Given the description of an element on the screen output the (x, y) to click on. 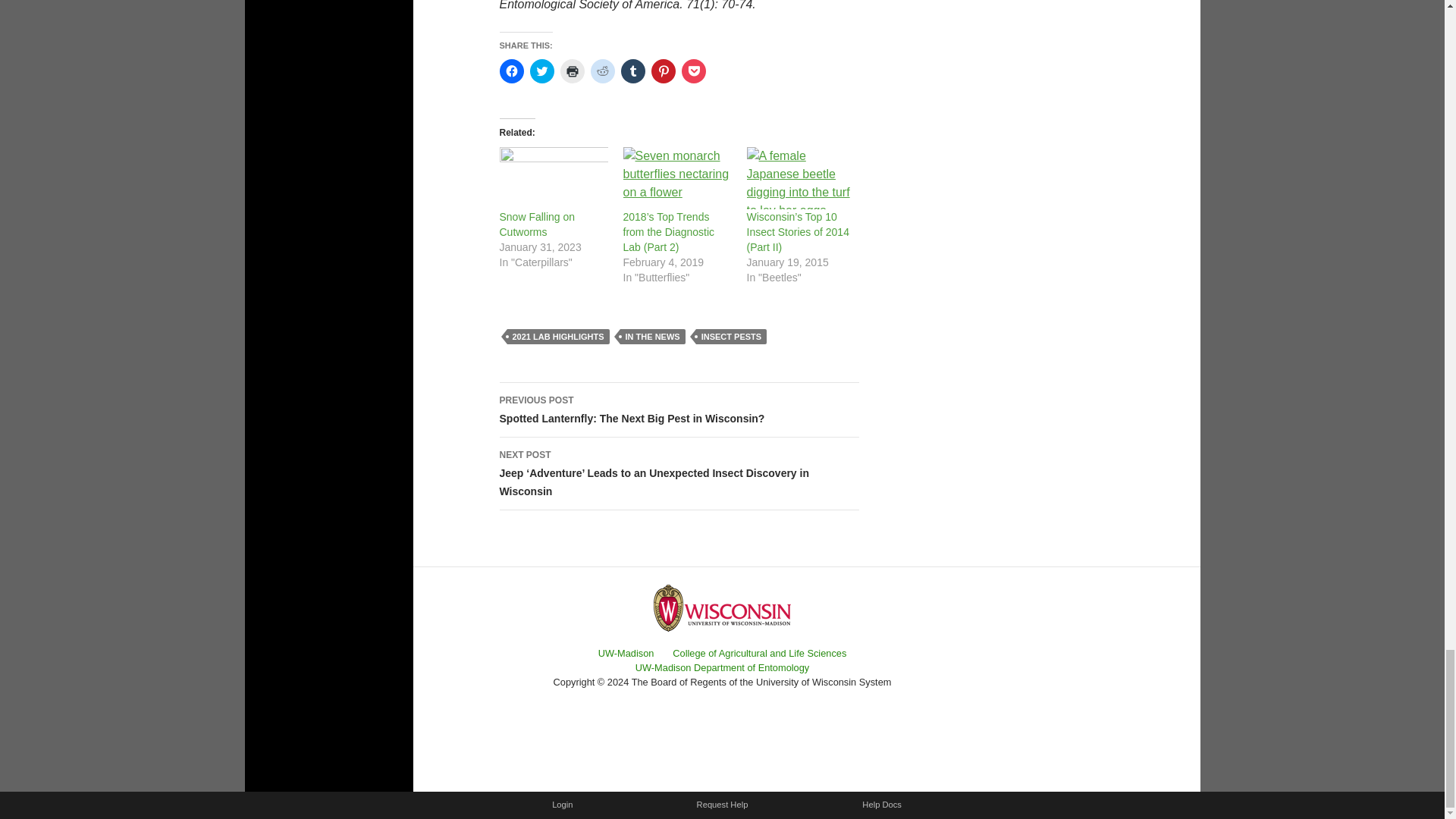
Click to share on Tumblr (632, 70)
Click to print (571, 70)
Click to share on Pinterest (662, 70)
Click to share on Facebook (510, 70)
Click to share on Pocket (692, 70)
Snow Falling on Cutworms (537, 224)
Click to share on Reddit (601, 70)
Click to share on Twitter (541, 70)
Snow Falling on Cutworms (553, 178)
